Given the description of an element on the screen output the (x, y) to click on. 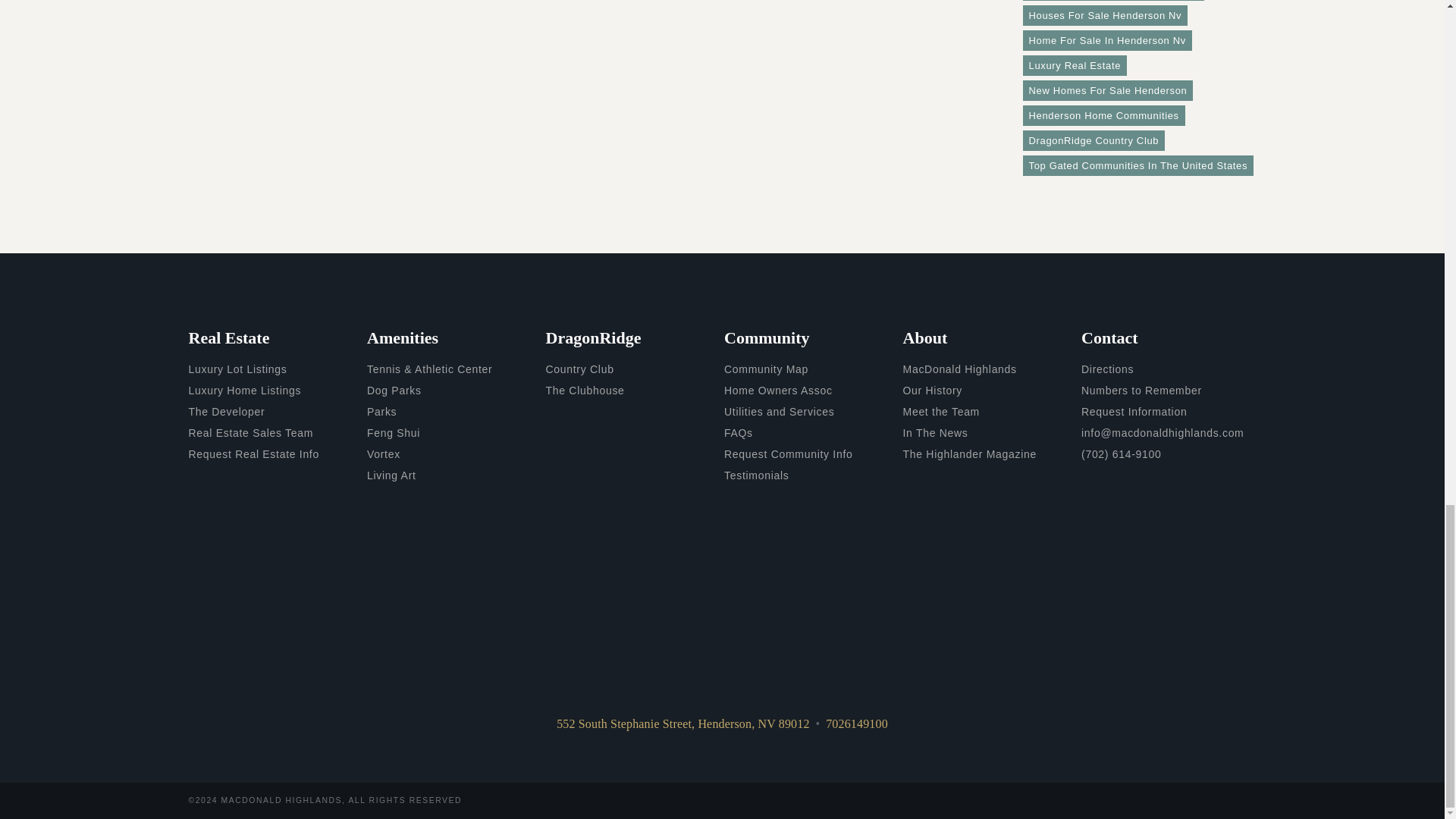
34 topics (1106, 40)
35 topics (1105, 14)
